Given the description of an element on the screen output the (x, y) to click on. 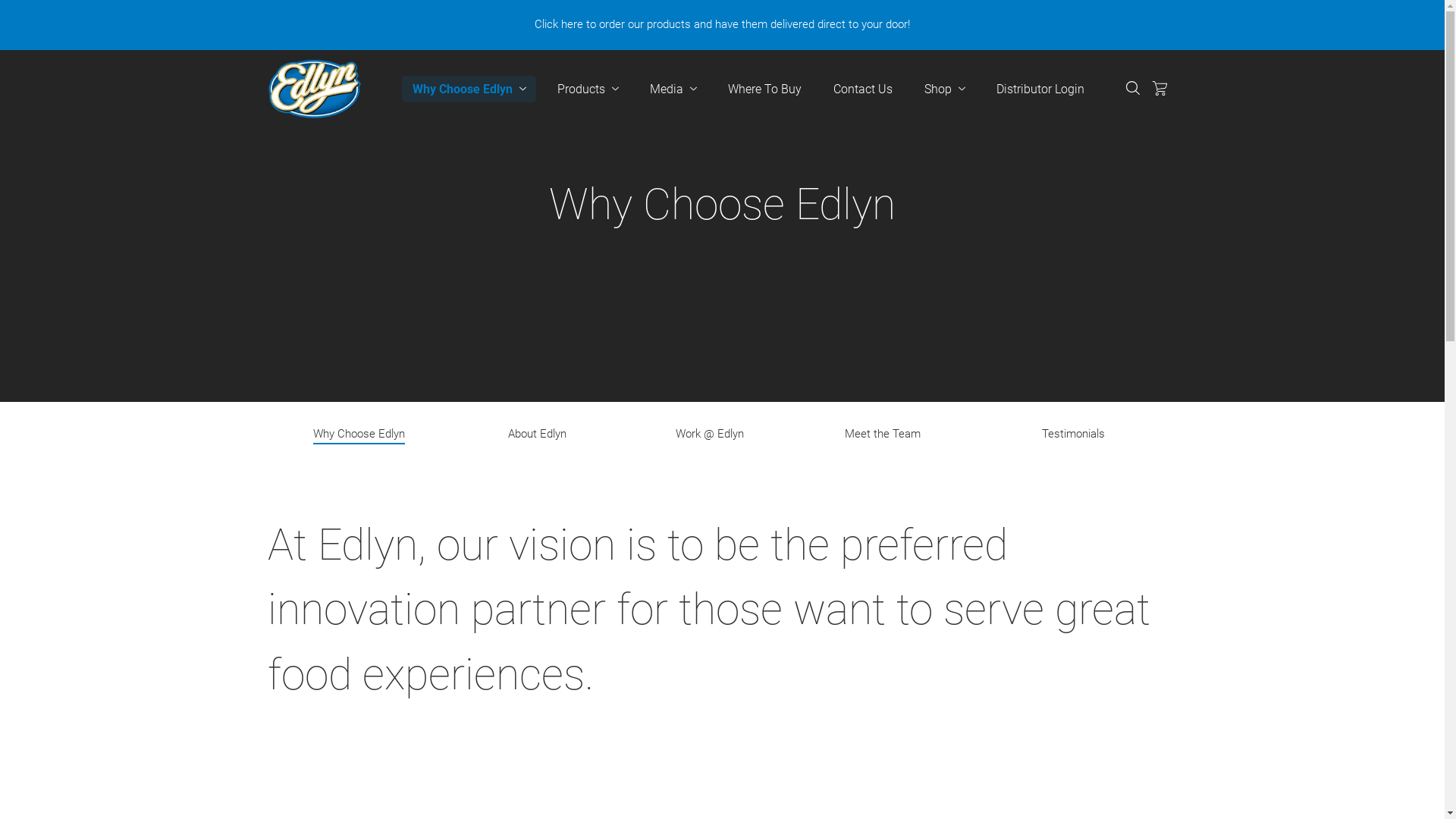
Products Element type: text (586, 88)
Distributor Login Element type: text (1040, 88)
Why Choose Edlyn Element type: text (468, 88)
Media Element type: text (672, 88)
Work @ Edlyn Element type: text (709, 434)
Meet the Team Element type: text (882, 434)
Why Choose Edlyn Element type: text (357, 434)
Shop Element type: text (943, 88)
Contact Us Element type: text (862, 88)
About Edlyn Element type: text (537, 434)
Where To Buy Element type: text (764, 88)
Testimonials Element type: text (1072, 434)
